Given the description of an element on the screen output the (x, y) to click on. 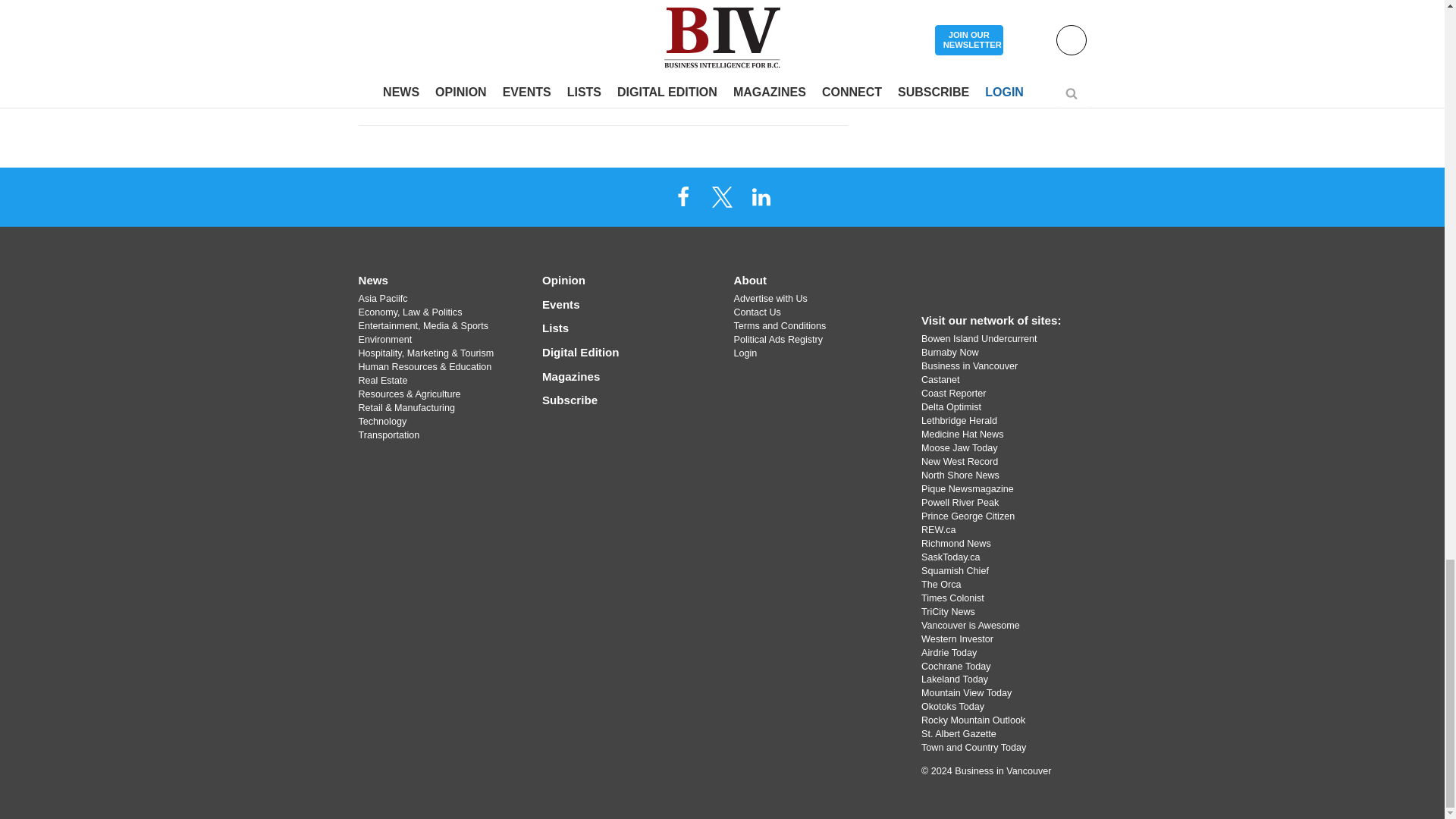
LinkedIn (760, 196)
X (721, 196)
Facebook (683, 196)
